Given the description of an element on the screen output the (x, y) to click on. 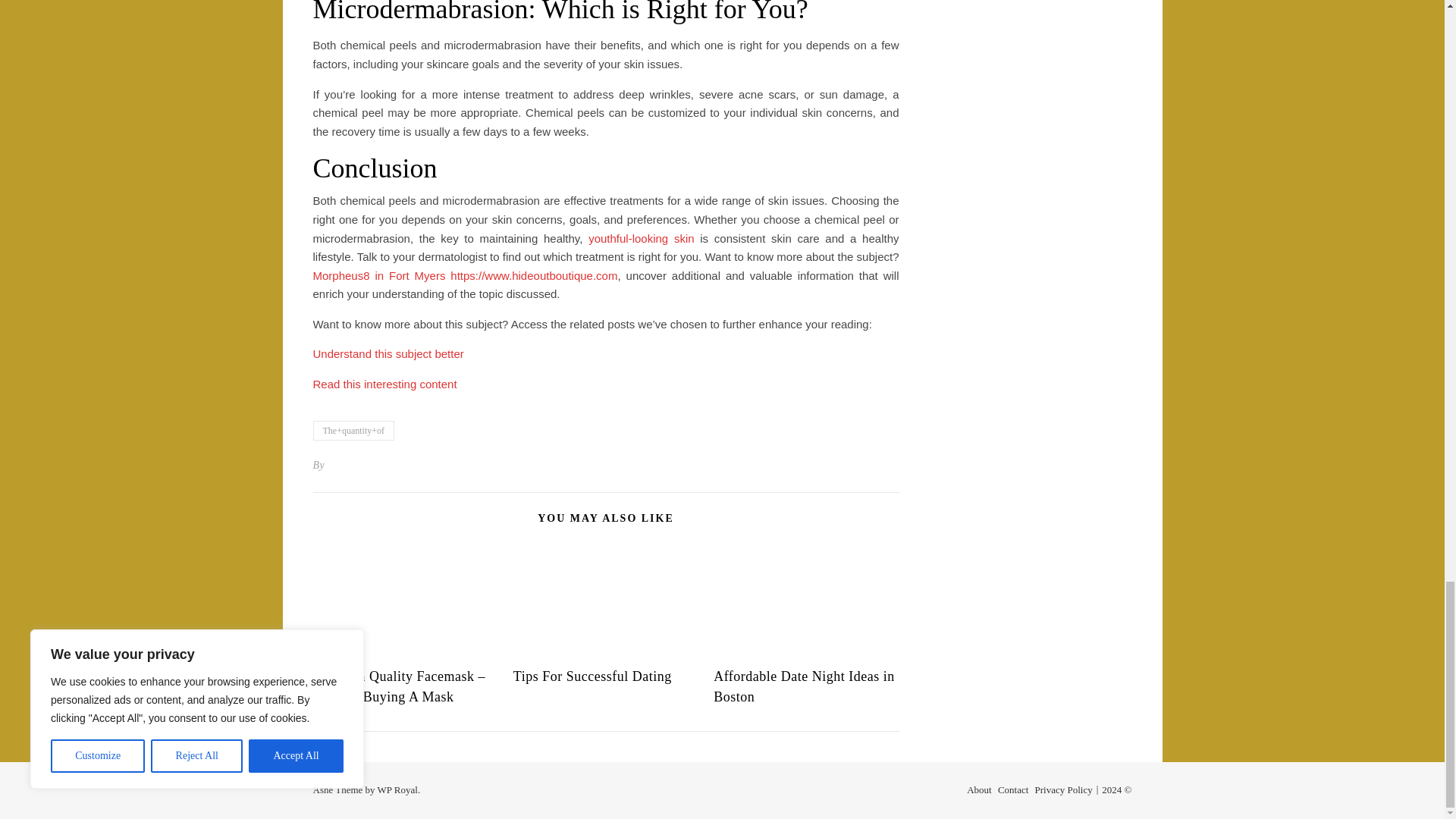
Affordable Date Night Ideas in Boston (804, 686)
Tips For Successful Dating (592, 676)
Read this interesting content (385, 383)
Understand this subject better (388, 353)
youthful-looking skin (641, 237)
